Given the description of an element on the screen output the (x, y) to click on. 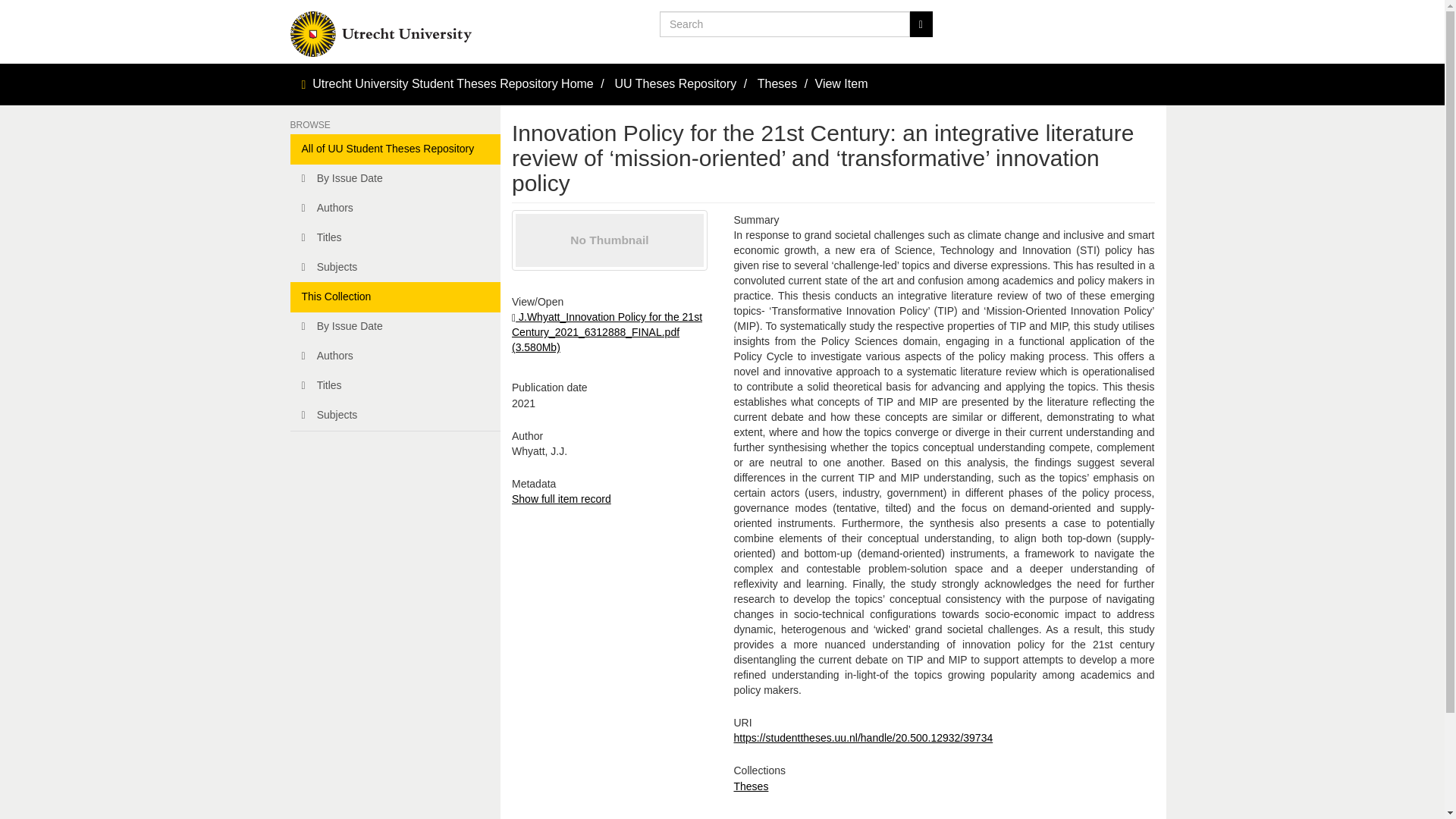
Titles (394, 237)
Authors (394, 356)
Go (920, 23)
Titles (394, 386)
Subjects (394, 267)
Theses (776, 83)
Subjects (394, 415)
Authors (394, 208)
Theses (750, 786)
All of UU Student Theses Repository (394, 149)
